Given the description of an element on the screen output the (x, y) to click on. 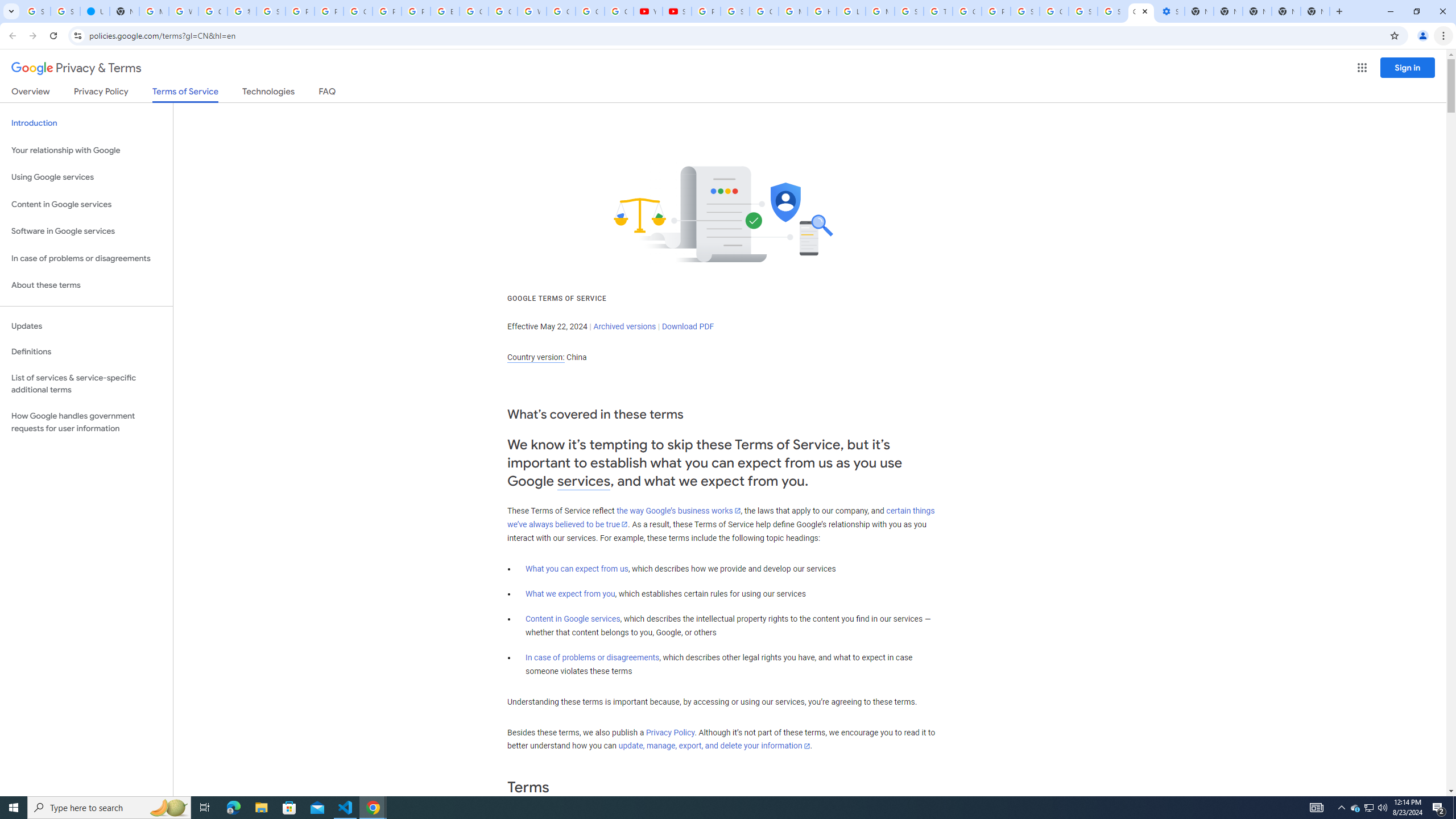
Google Slides: Sign-in (473, 11)
Using Google services (86, 176)
Country version: (535, 357)
Sign in - Google Accounts (1082, 11)
Sign in - Google Accounts (1111, 11)
What we expect from you (570, 593)
